Given the description of an element on the screen output the (x, y) to click on. 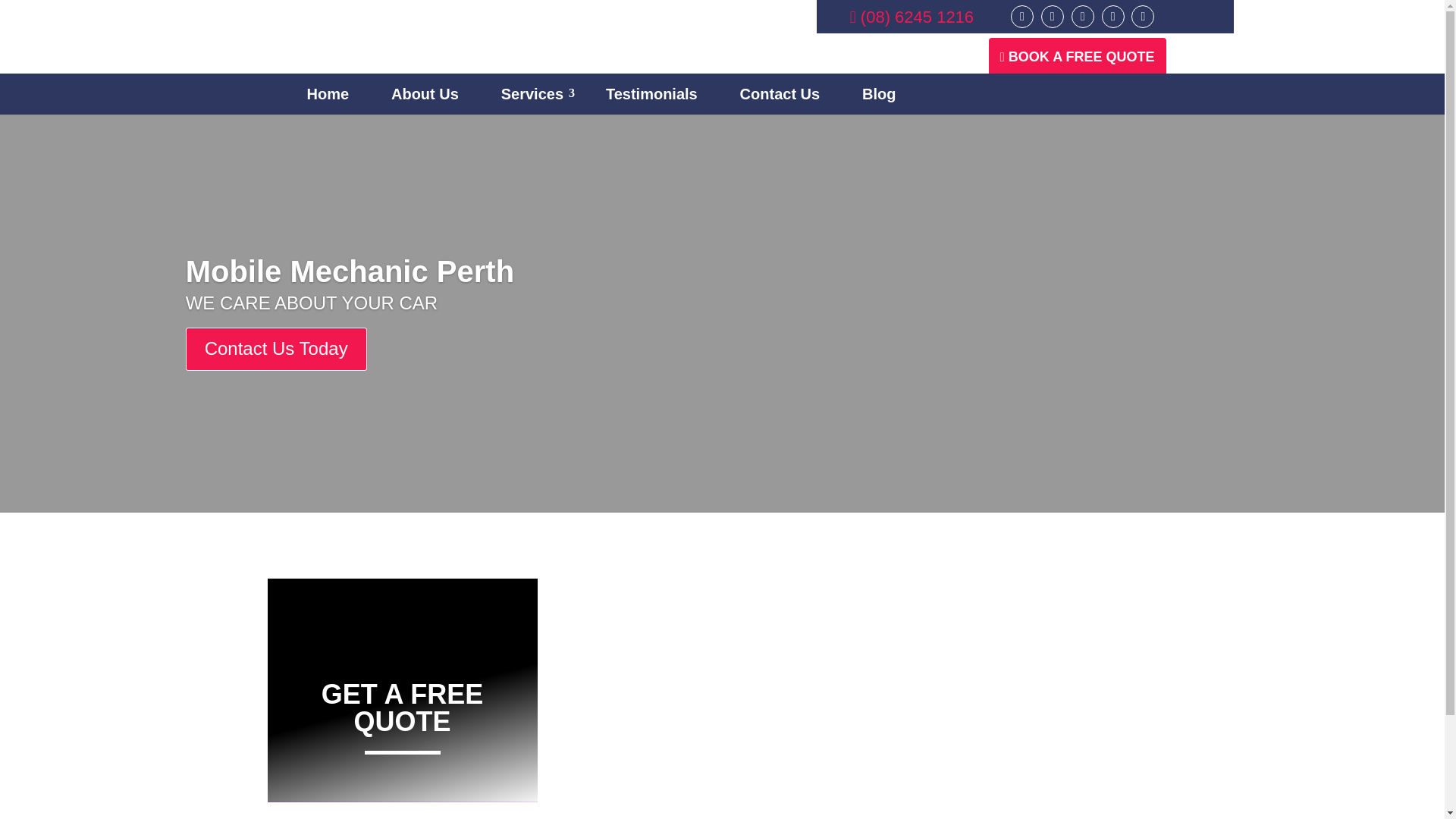
Services (532, 93)
Blog (878, 93)
About Us (425, 93)
Contact Us (780, 93)
Home (328, 93)
BOOK A FREE QUOTE (1077, 56)
Testimonials (651, 93)
Contact Us Today (276, 387)
